Given the description of an element on the screen output the (x, y) to click on. 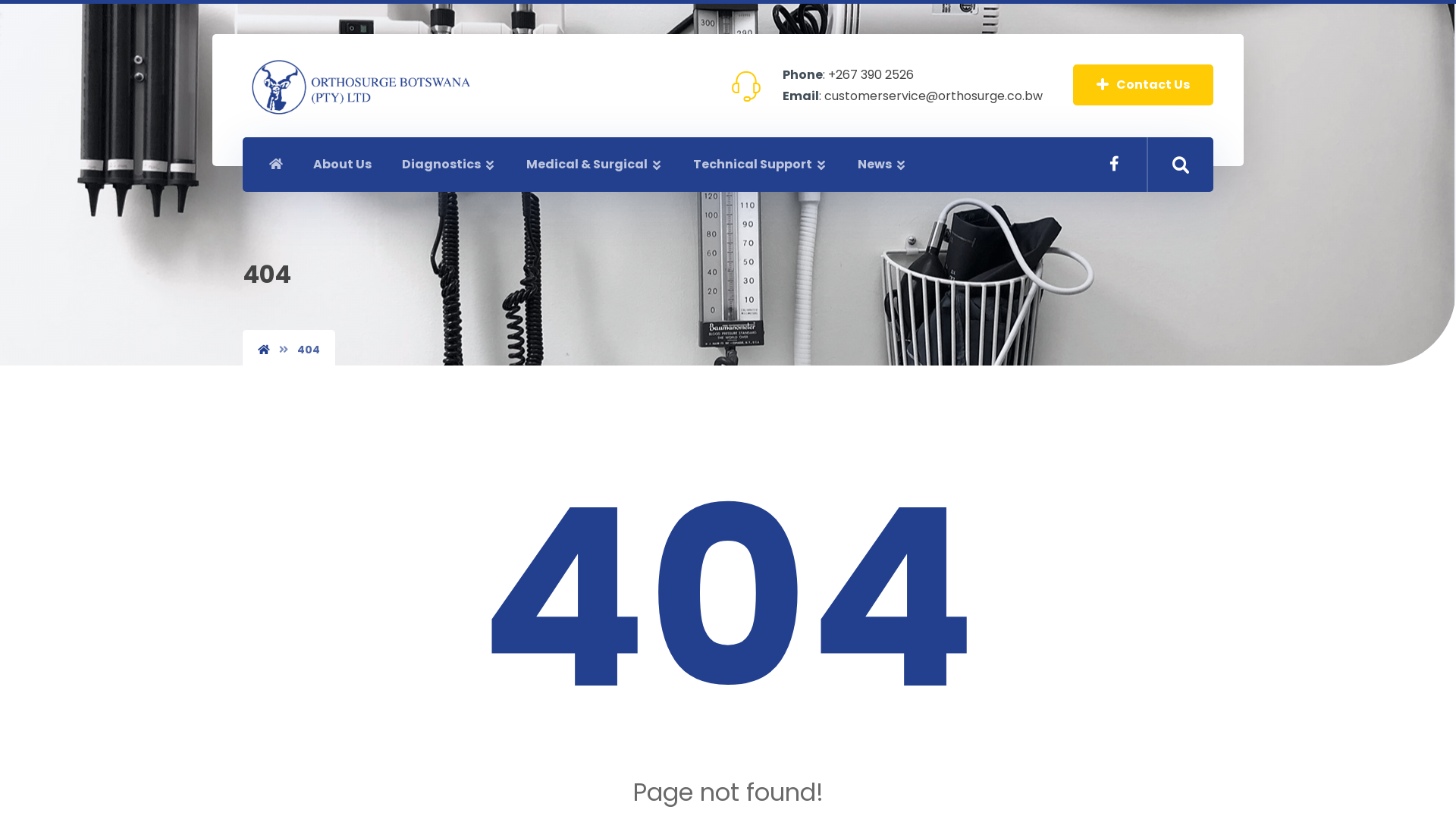
Phone: +267 390 2526
Email: customerservice@orthosurge.co.bw Element type: text (883, 85)
About Us Element type: text (342, 164)
Medical & Surgical Element type: text (594, 164)
Contact Us Element type: text (1143, 84)
Orthosurge Botswana Element type: hover (360, 87)
Home page Element type: hover (263, 349)
News Element type: text (882, 164)
Technical Support Element type: text (759, 164)
Diagnostics Element type: text (448, 164)
404 Element type: text (308, 349)
